Given the description of an element on the screen output the (x, y) to click on. 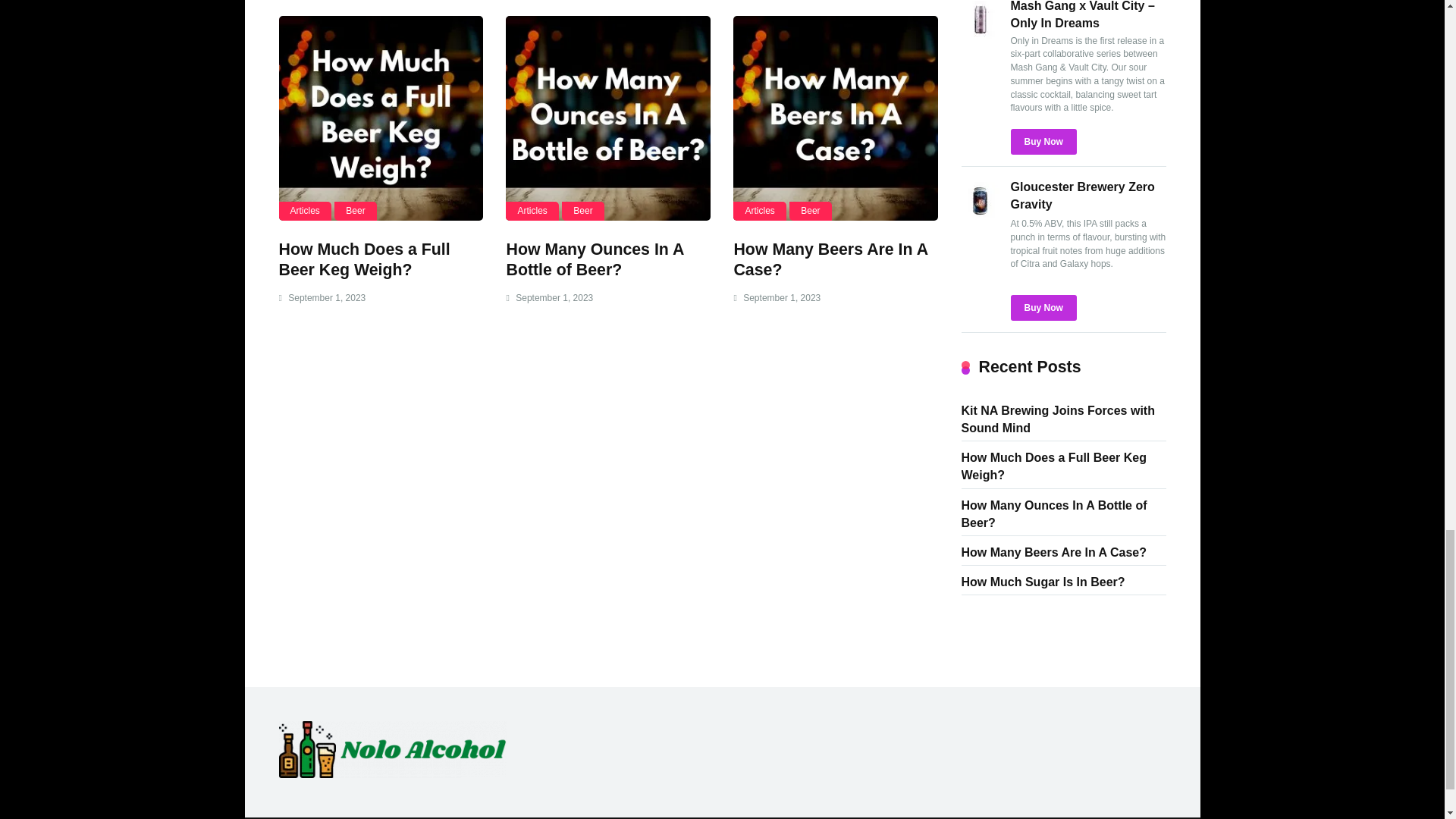
How Many Beers Are In A Case? (830, 259)
How Much Does a Full Beer Keg Weigh? (364, 259)
How Much Does a Full Beer Keg Weigh? (381, 117)
How Much Does a Full Beer Keg Weigh? (364, 259)
Beer (810, 210)
How Many Ounces In A Bottle of Beer? (607, 117)
Beer (354, 210)
How Many Ounces In A Bottle of Beer? (593, 259)
How Many Beers Are In A Case? (830, 259)
Articles (305, 210)
Articles (759, 210)
Articles (531, 210)
How Many Beers Are In A Case? (835, 117)
How Many Ounces In A Bottle of Beer? (593, 259)
Beer (583, 210)
